Given the description of an element on the screen output the (x, y) to click on. 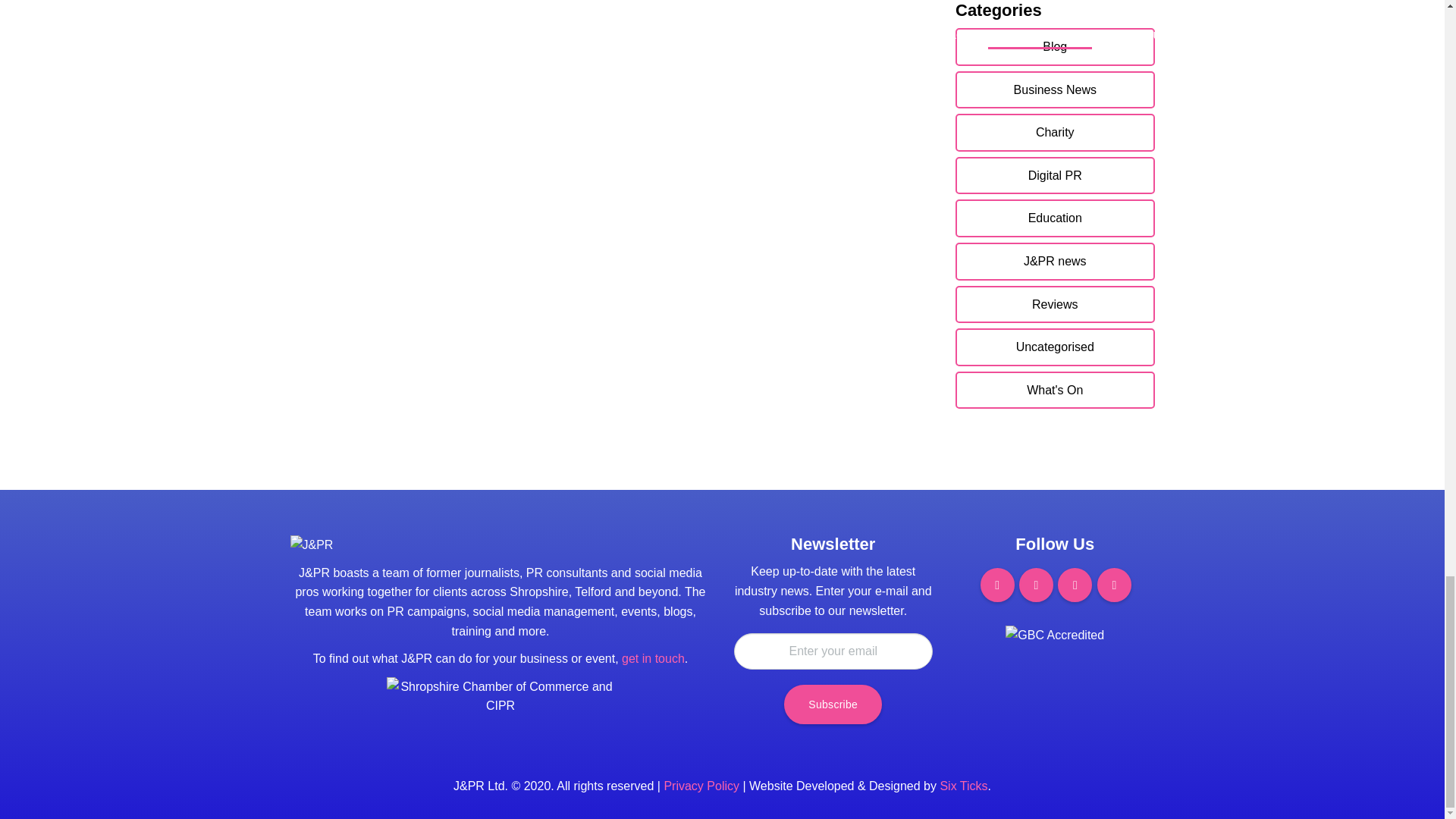
Twitter (1075, 584)
Instagram (1035, 584)
LinkedIn (1114, 584)
Facebook (996, 584)
